Given the description of an element on the screen output the (x, y) to click on. 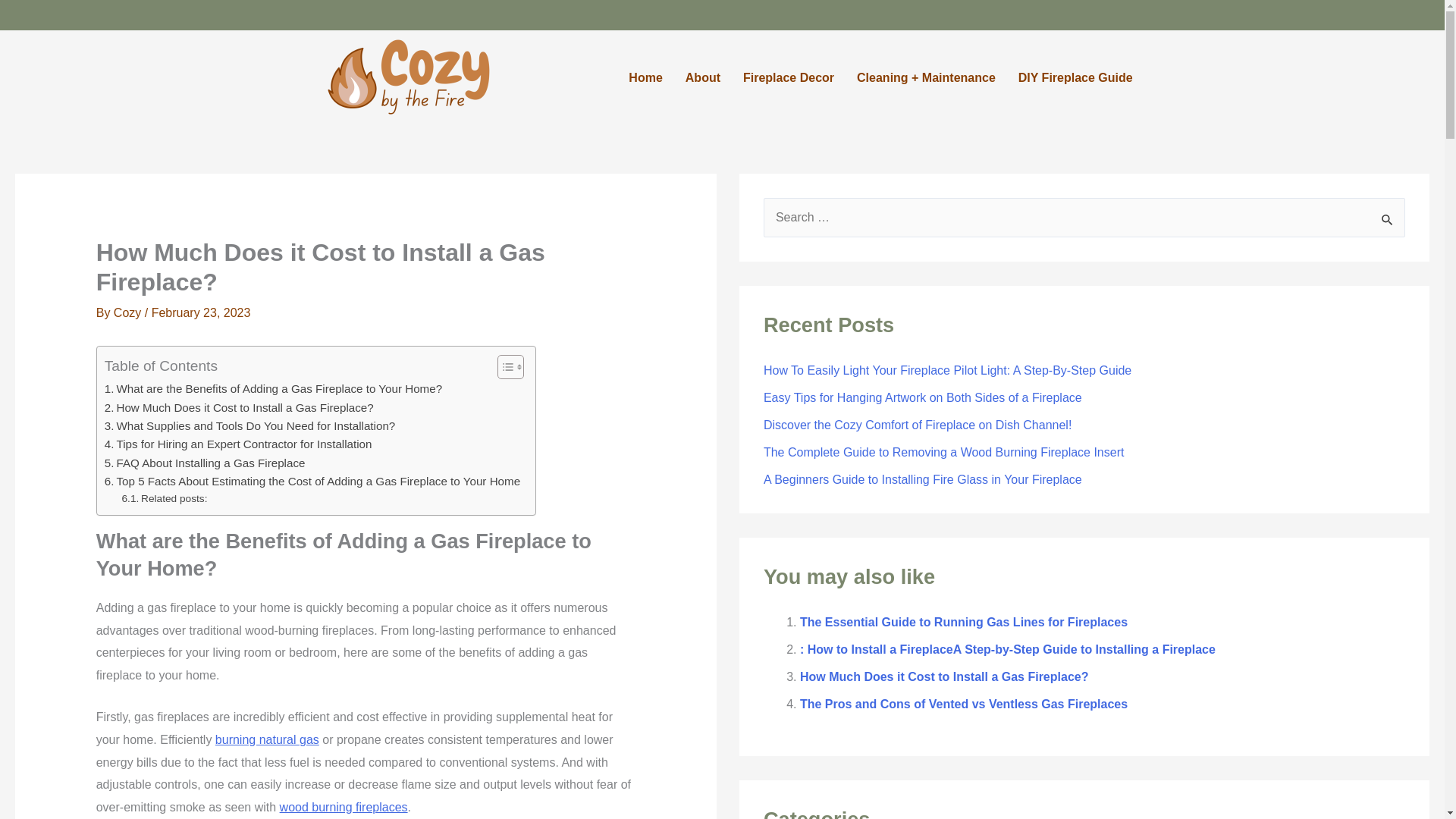
How Much Does it Cost to Install a Gas Fireplace? (239, 407)
How Much Does it Cost to Install a Gas Fireplace? (239, 407)
Related posts: (165, 498)
DIY Fireplace Guide (1075, 77)
Fireplace Decor (788, 77)
About (703, 77)
wood burning fireplaces (343, 807)
What Supplies and Tools Do You Need for Installation? (250, 425)
What Supplies and Tools Do You Need for Installation? (250, 425)
burning natural gas (266, 739)
FAQ About Installing a Gas Fireplace (204, 463)
Related posts: (165, 498)
